Given the description of an element on the screen output the (x, y) to click on. 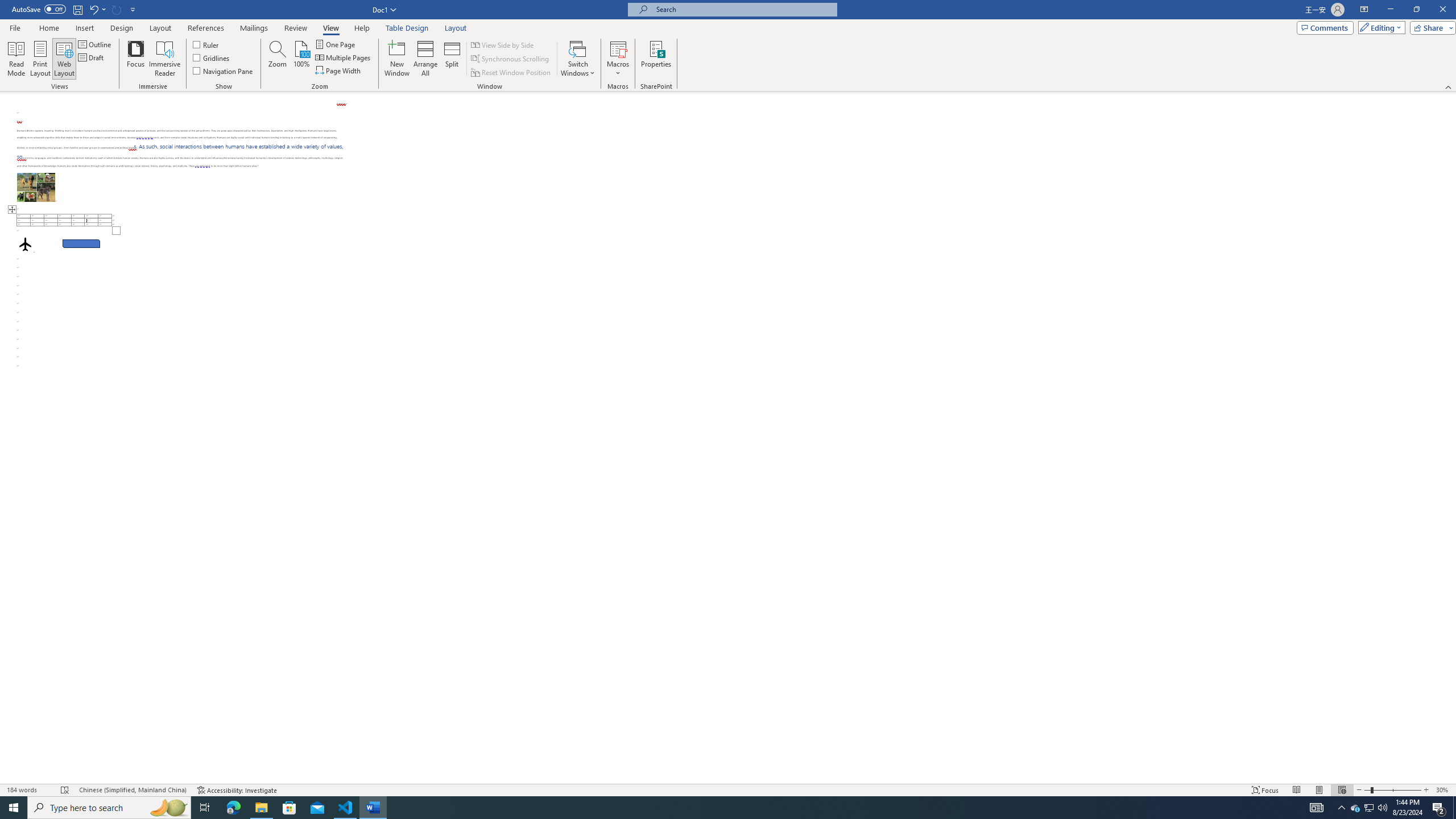
Insert (83, 28)
One Page (335, 44)
100% (301, 58)
Undo Row Height Spinner (96, 9)
Language Chinese (Simplified, Mainland China) (132, 790)
Help (361, 28)
Zoom In (1426, 790)
New Window (396, 58)
Share (1430, 27)
Close (1442, 9)
System (6, 6)
Ribbon Display Options (1364, 9)
Ruler (206, 44)
Morphological variation in six dogs (36, 187)
Can't Repeat (117, 9)
